Given the description of an element on the screen output the (x, y) to click on. 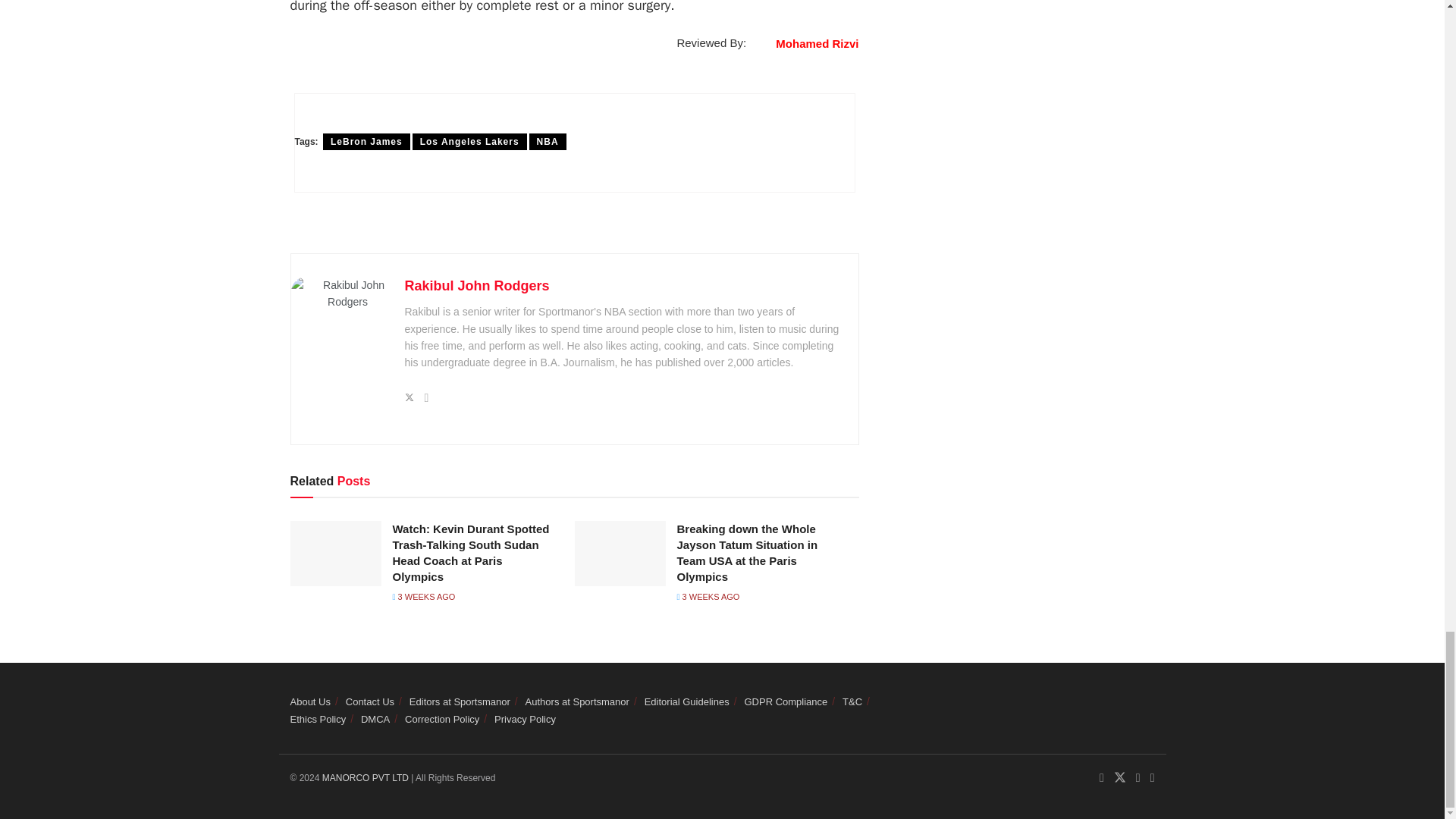
Sportsmanor (366, 777)
